Given the description of an element on the screen output the (x, y) to click on. 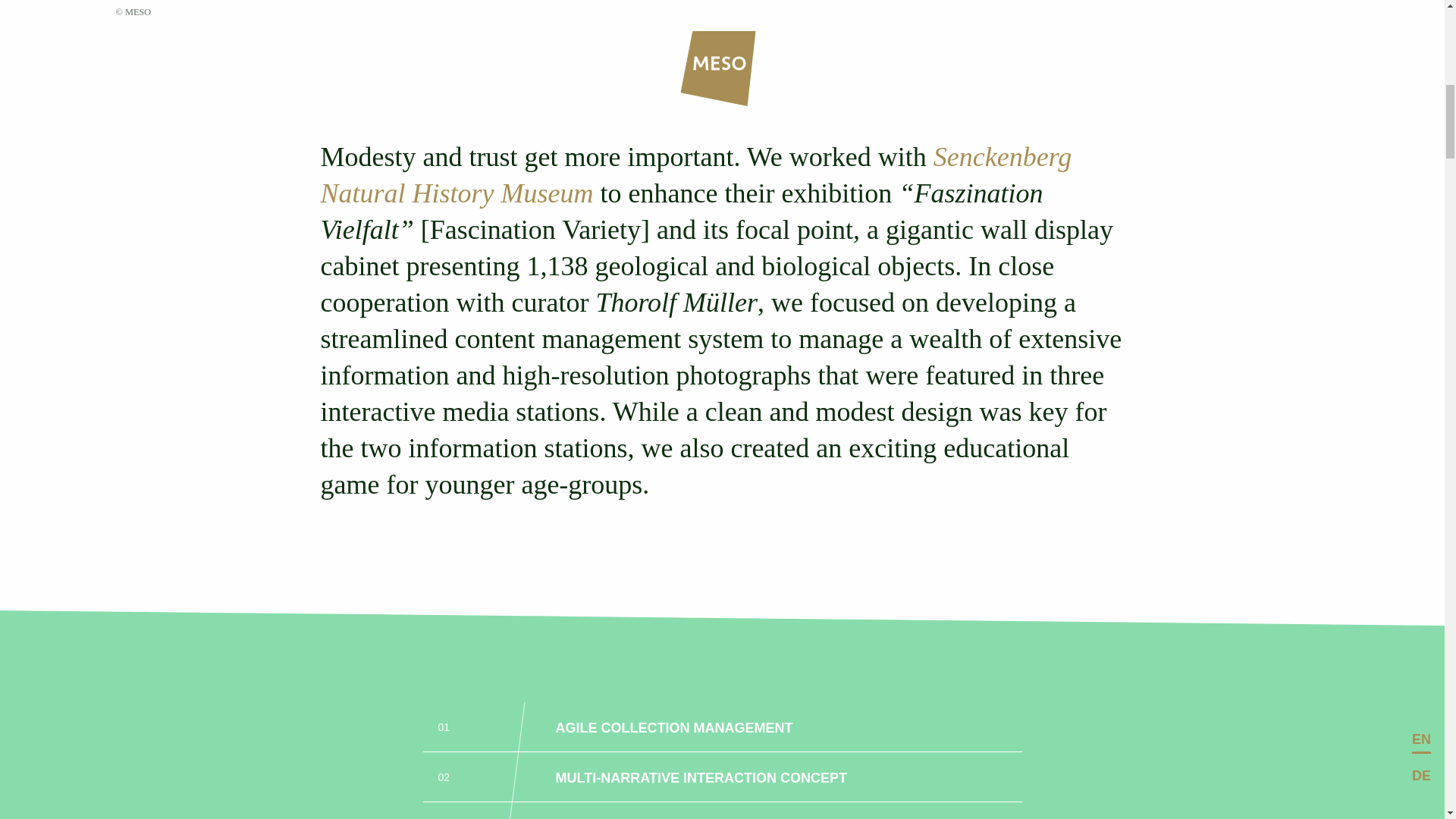
MULTI-NARRATIVE INTERACTION CONCEPT (701, 776)
AGILE COLLECTION MANAGEMENT (674, 726)
Senckenberg Natural History Museum (695, 174)
